Given the description of an element on the screen output the (x, y) to click on. 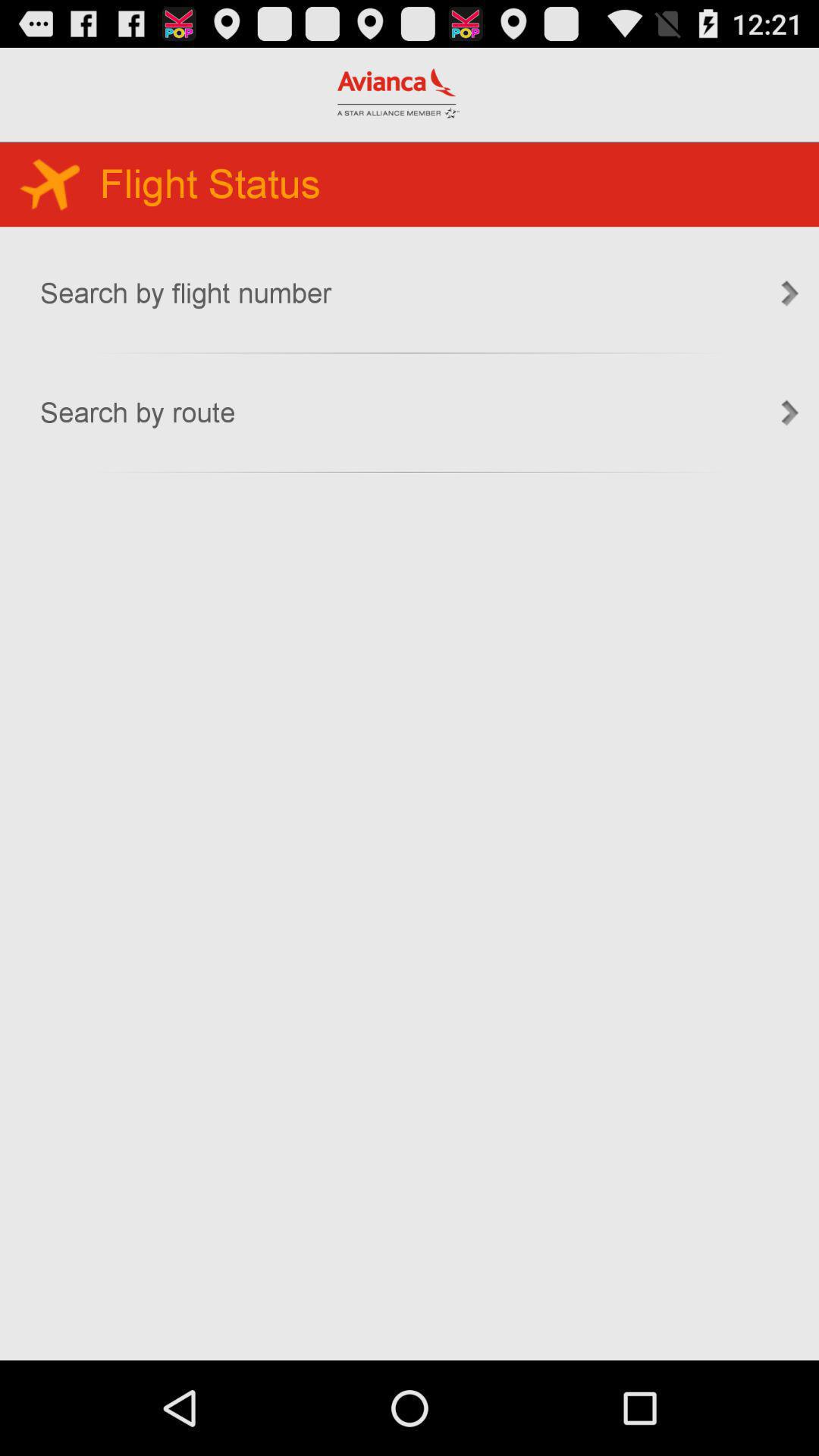
select the icon left to flight status (49, 183)
select the first right scroll in the image (790, 293)
click on the logo below notificationstatus bar (398, 92)
